Given the description of an element on the screen output the (x, y) to click on. 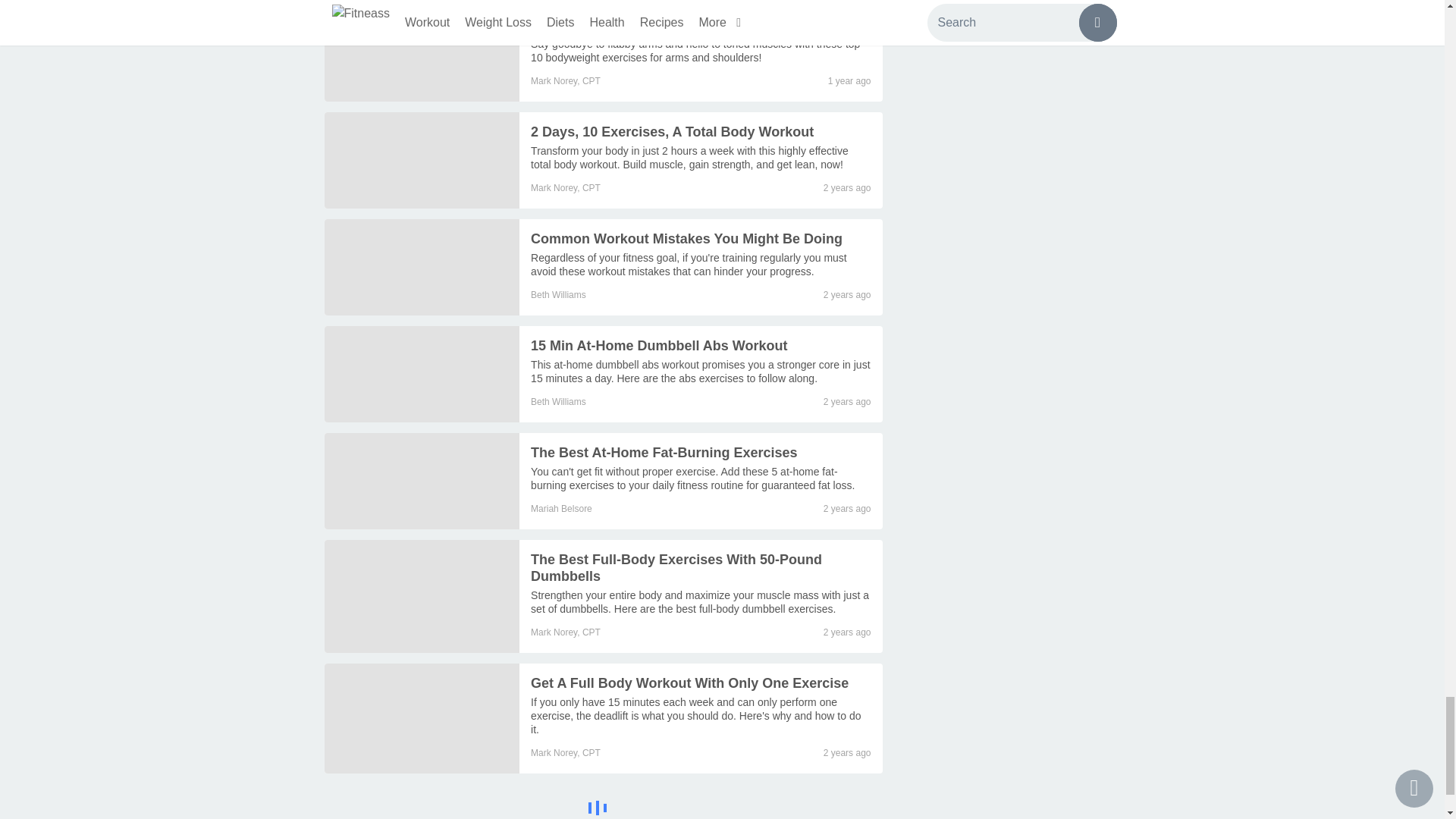
10 Best Bodyweight Exercises For Arms And Shoulders (421, 50)
10 Best Bodyweight Exercises For Arms And Shoulders (676, 16)
Searching for more related posts... (603, 807)
